Given the description of an element on the screen output the (x, y) to click on. 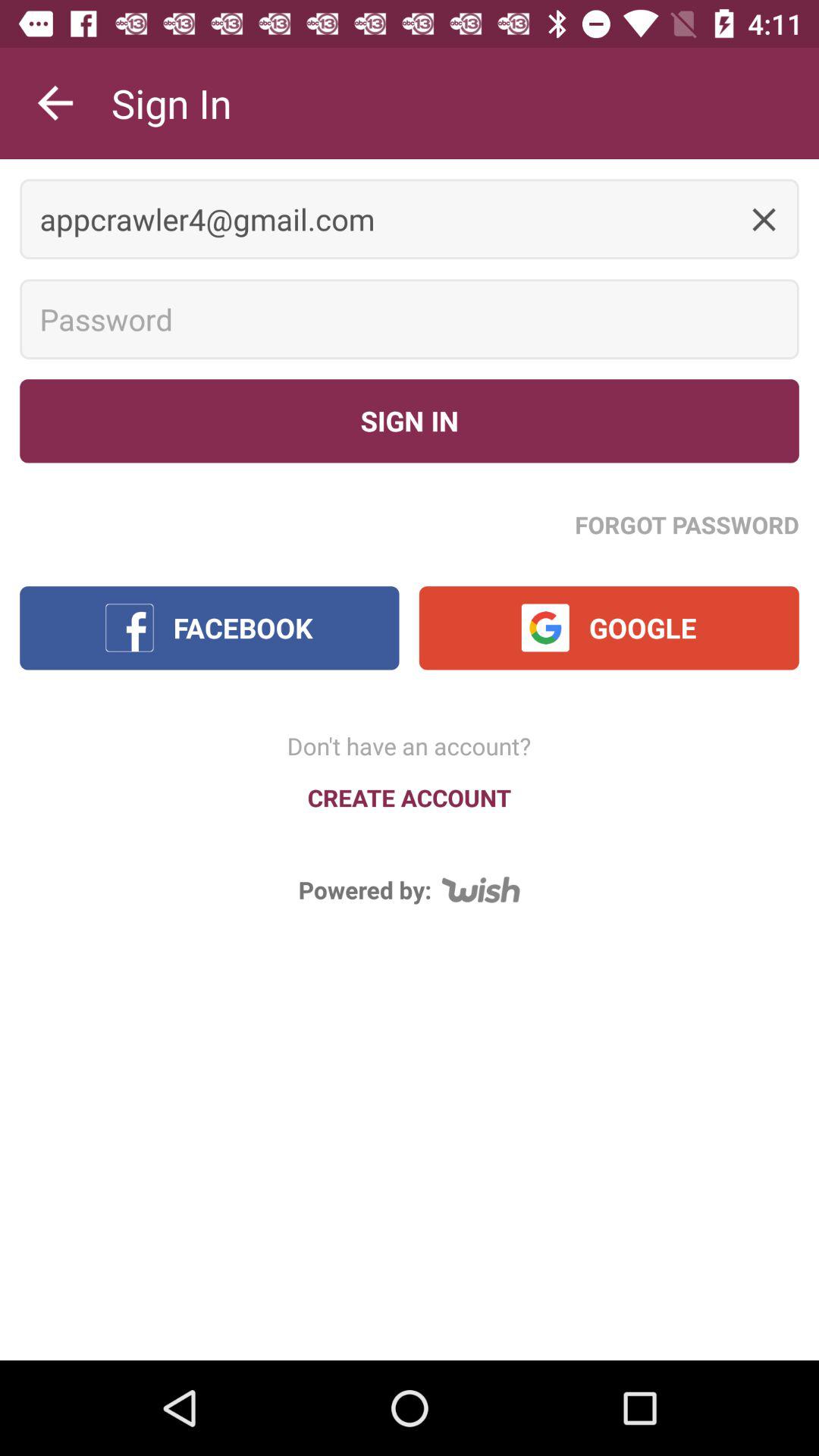
click on the facebook option (209, 627)
click on create account option (409, 797)
click on the text field password (409, 319)
click on forgot password option (686, 524)
